Given the description of an element on the screen output the (x, y) to click on. 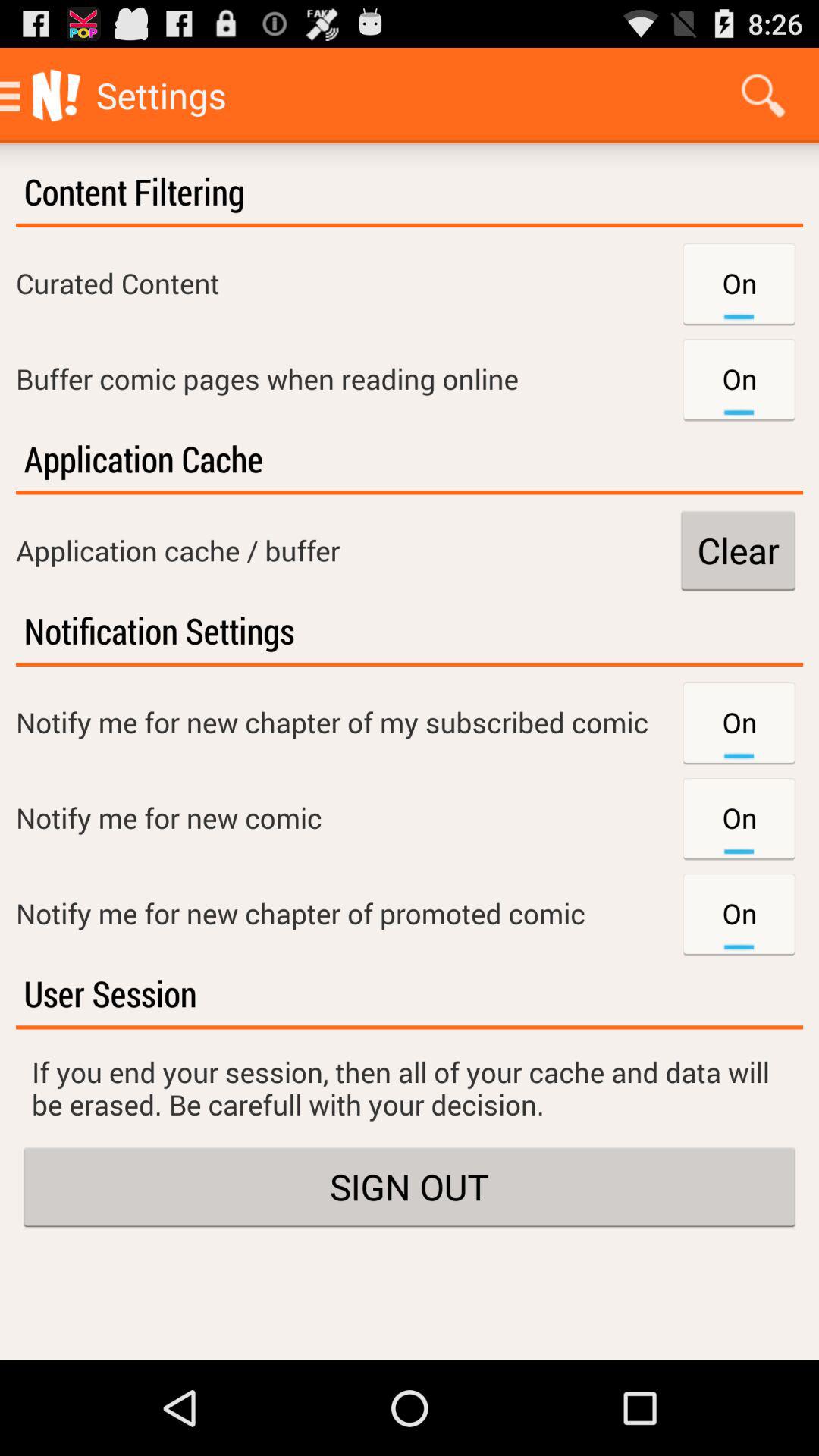
choose icon above the content filtering (763, 95)
